Given the description of an element on the screen output the (x, y) to click on. 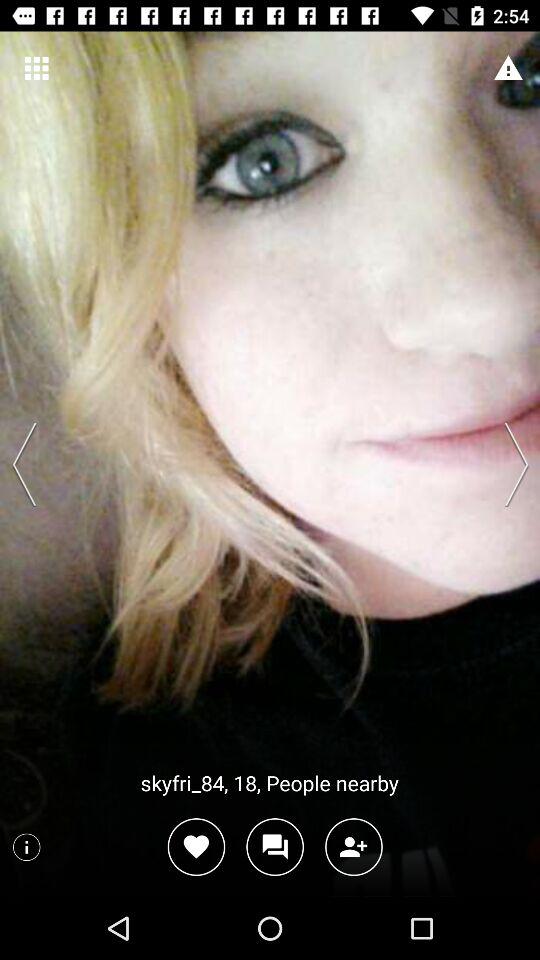
click add person (353, 846)
